Given the description of an element on the screen output the (x, y) to click on. 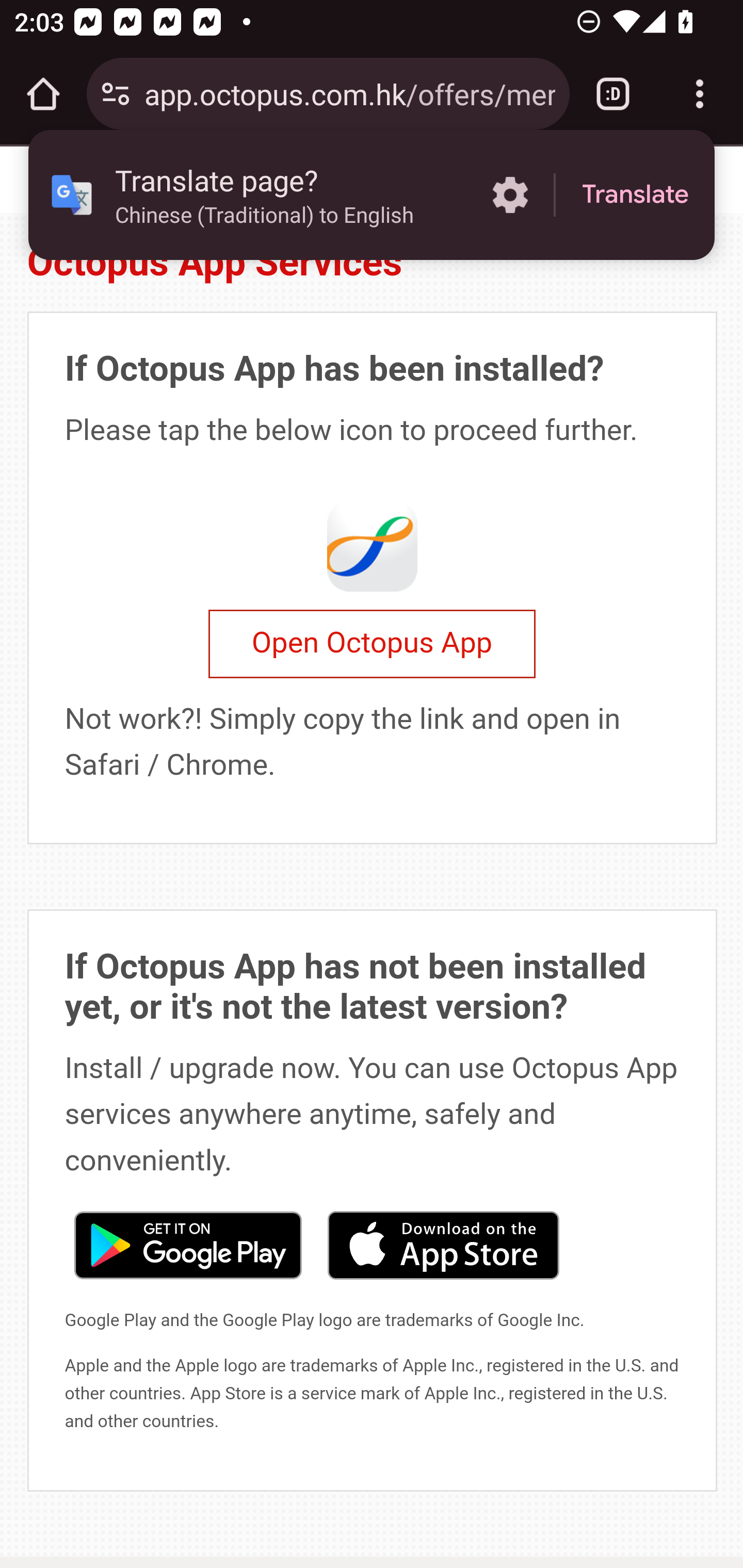
Open the home page (43, 93)
Connection is secure (115, 93)
Switch or close tabs (612, 93)
Customize and control Google Chrome (699, 93)
Translate (634, 195)
More options in the Translate page? (509, 195)
www.octopus.com (123, 180)
Open Octopus App (371, 643)
Get it on Google Play (187, 1243)
Download on the App Store (443, 1243)
